Given the description of an element on the screen output the (x, y) to click on. 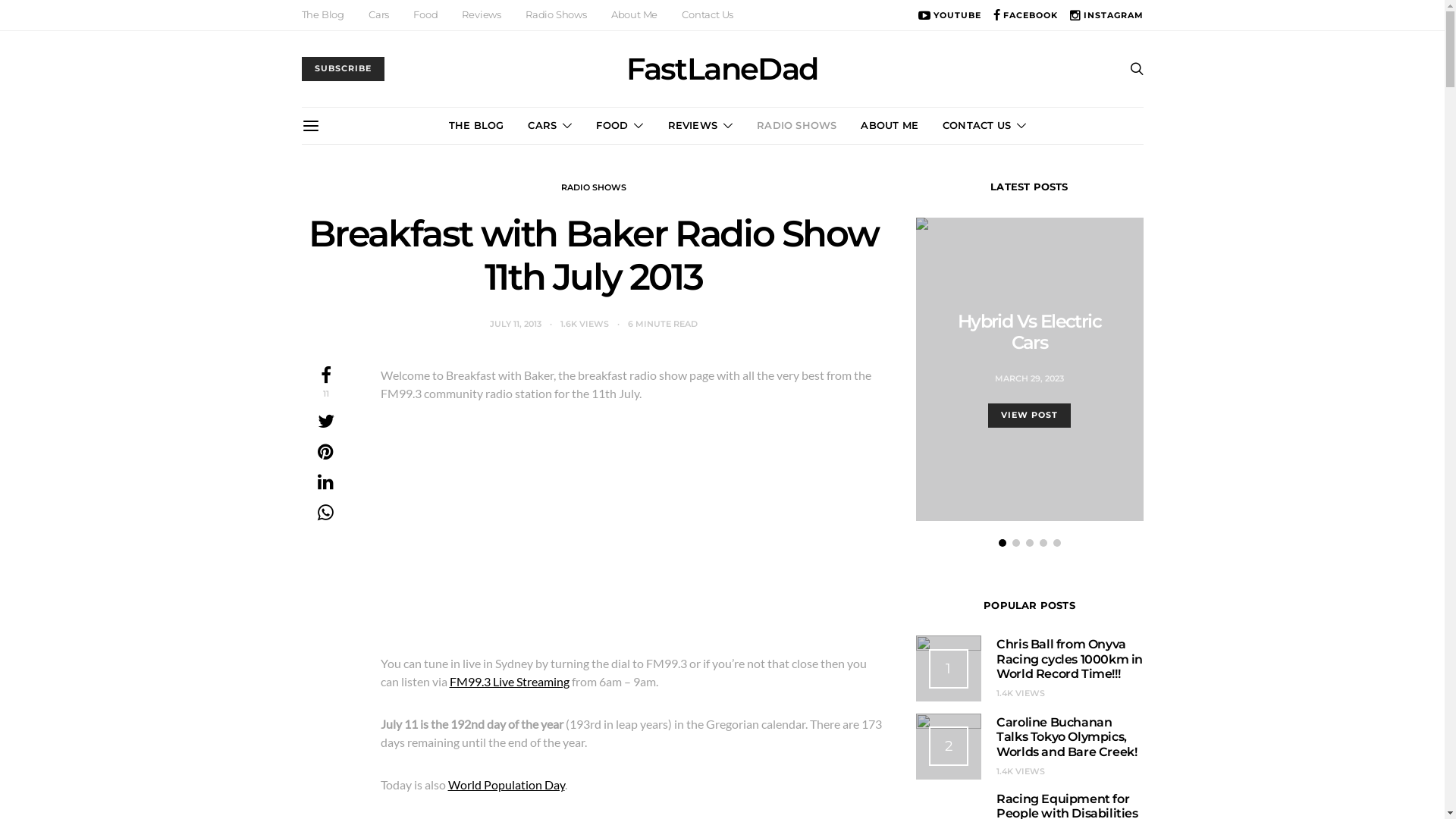
FACEBOOK Element type: text (1025, 15)
11 Element type: text (324, 383)
INSTAGRAM Element type: text (1106, 15)
FM99.3 Live Streaming Element type: text (508, 681)
Cars Element type: text (378, 14)
FOOD Element type: text (619, 125)
The Blog Element type: text (322, 14)
Food Element type: text (425, 14)
About Me Element type: text (634, 14)
Contact Us Element type: text (707, 14)
2 Element type: text (949, 746)
REVIEWS Element type: text (699, 125)
VIEW POST Element type: text (1029, 415)
World Population Day Element type: text (505, 784)
RADIO SHOWS Element type: text (593, 187)
CARS Element type: text (549, 125)
1 Element type: text (949, 668)
FastLaneDad Element type: text (721, 68)
RADIO SHOWS Element type: text (796, 125)
YOUTUBE Element type: text (949, 15)
Reviews Element type: text (481, 14)
Advertisement Element type: hover (632, 532)
CONTACT US Element type: text (984, 125)
SUBSCRIBE Element type: text (342, 68)
THE BLOG Element type: text (476, 125)
Radio Shows Element type: text (555, 14)
ABOUT ME Element type: text (889, 125)
